Given the description of an element on the screen output the (x, y) to click on. 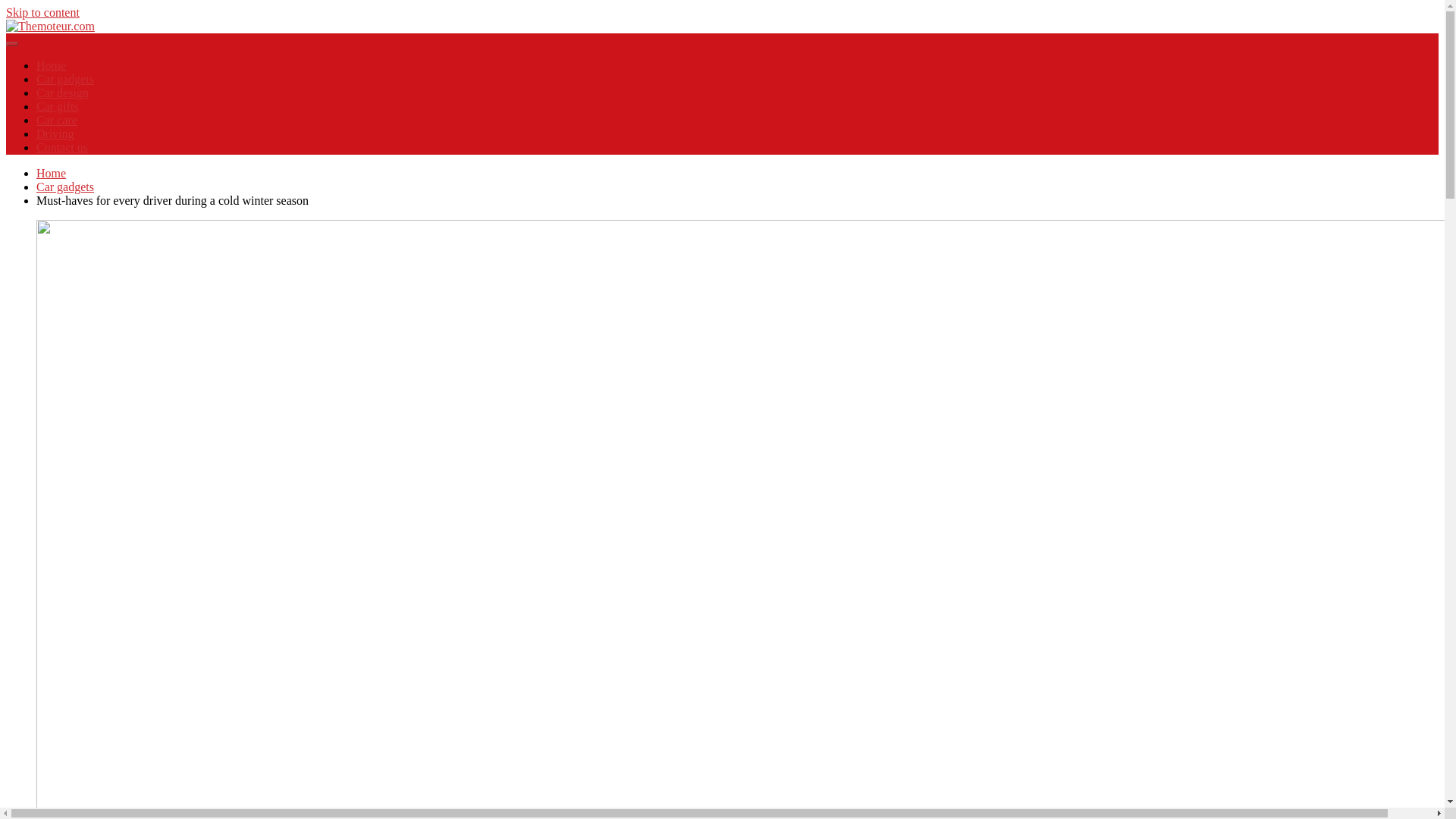
Themoteur.com (66, 57)
Home (50, 173)
Driving (55, 133)
Skip to content (42, 11)
Car design (62, 92)
Car gadgets (65, 78)
Car gadgets (65, 186)
Car care (56, 119)
Contact us (61, 146)
Car gifts (57, 106)
Home (50, 65)
